Given the description of an element on the screen output the (x, y) to click on. 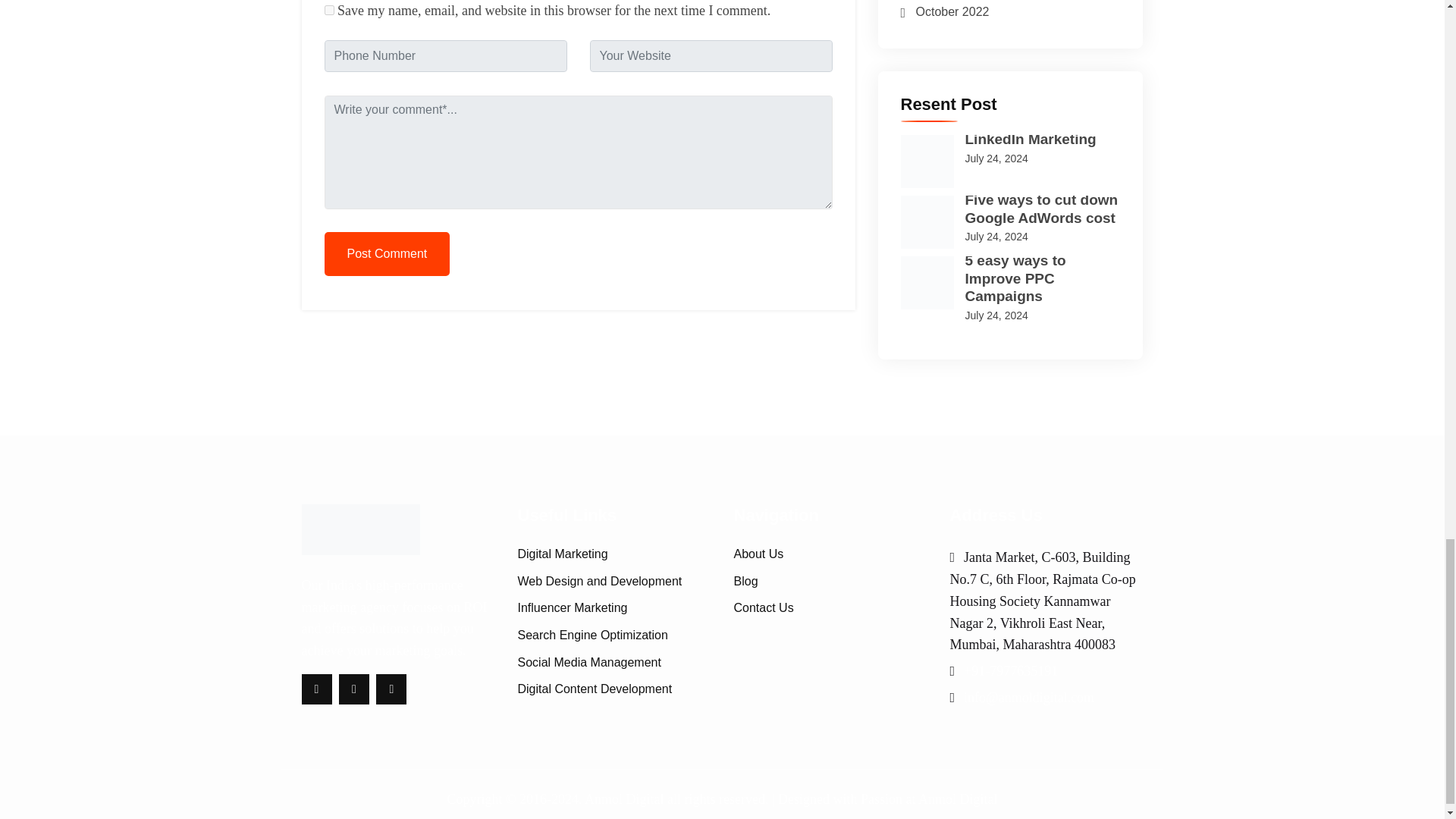
LinkedIn Marketing 2 (927, 161)
yes (329, 9)
